Given the description of an element on the screen output the (x, y) to click on. 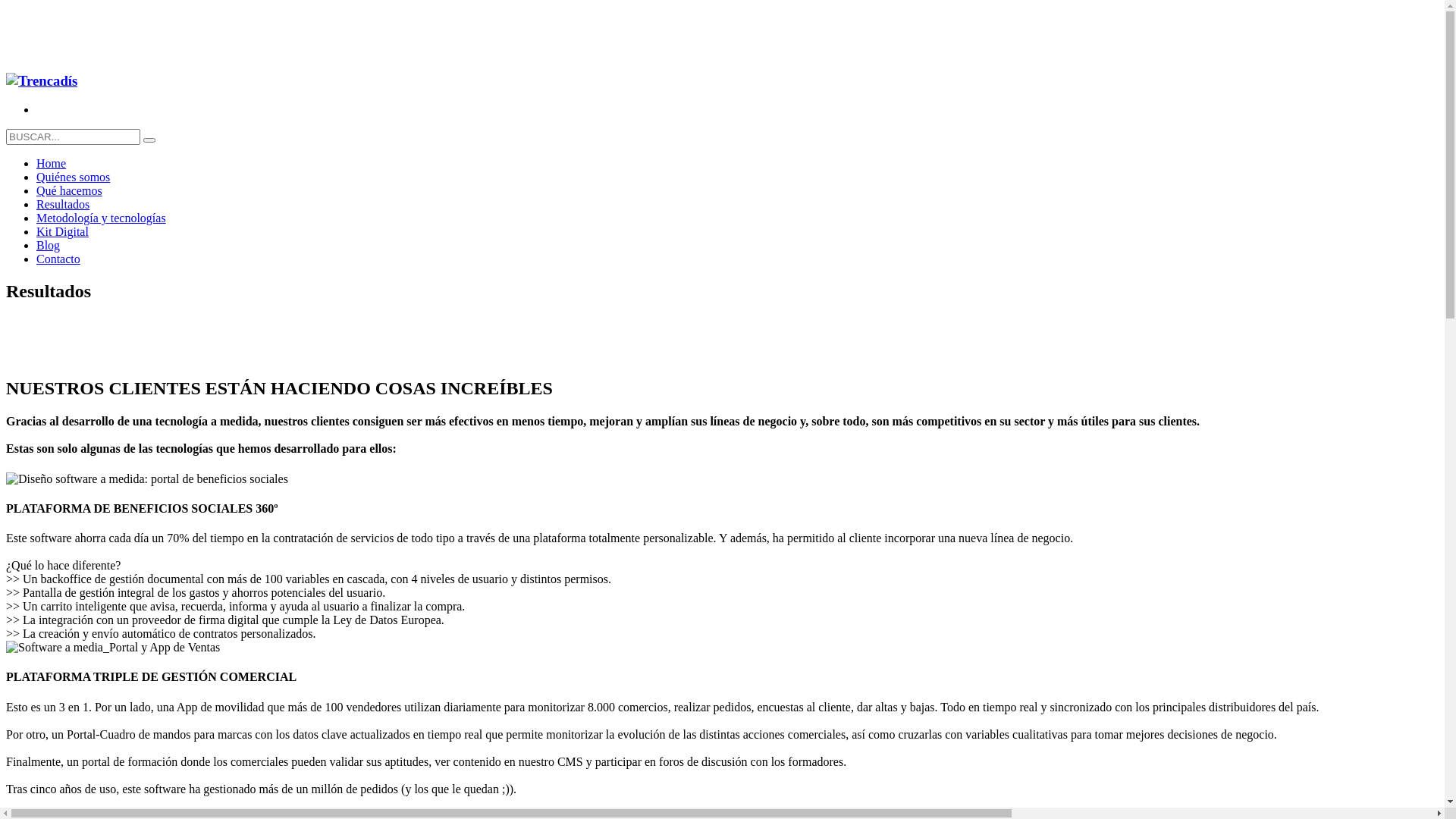
Kit Digital Element type: text (62, 231)
go Element type: text (149, 140)
Business Solutions Element type: hover (41, 80)
Resultados Element type: text (62, 203)
Blog Element type: text (47, 244)
Portal Beneficios Sociales-min Element type: hover (147, 479)
Sofware a medida_Portal y App de Ventas Element type: hover (112, 647)
Contacto Element type: text (58, 258)
Home Element type: text (50, 162)
